Given the description of an element on the screen output the (x, y) to click on. 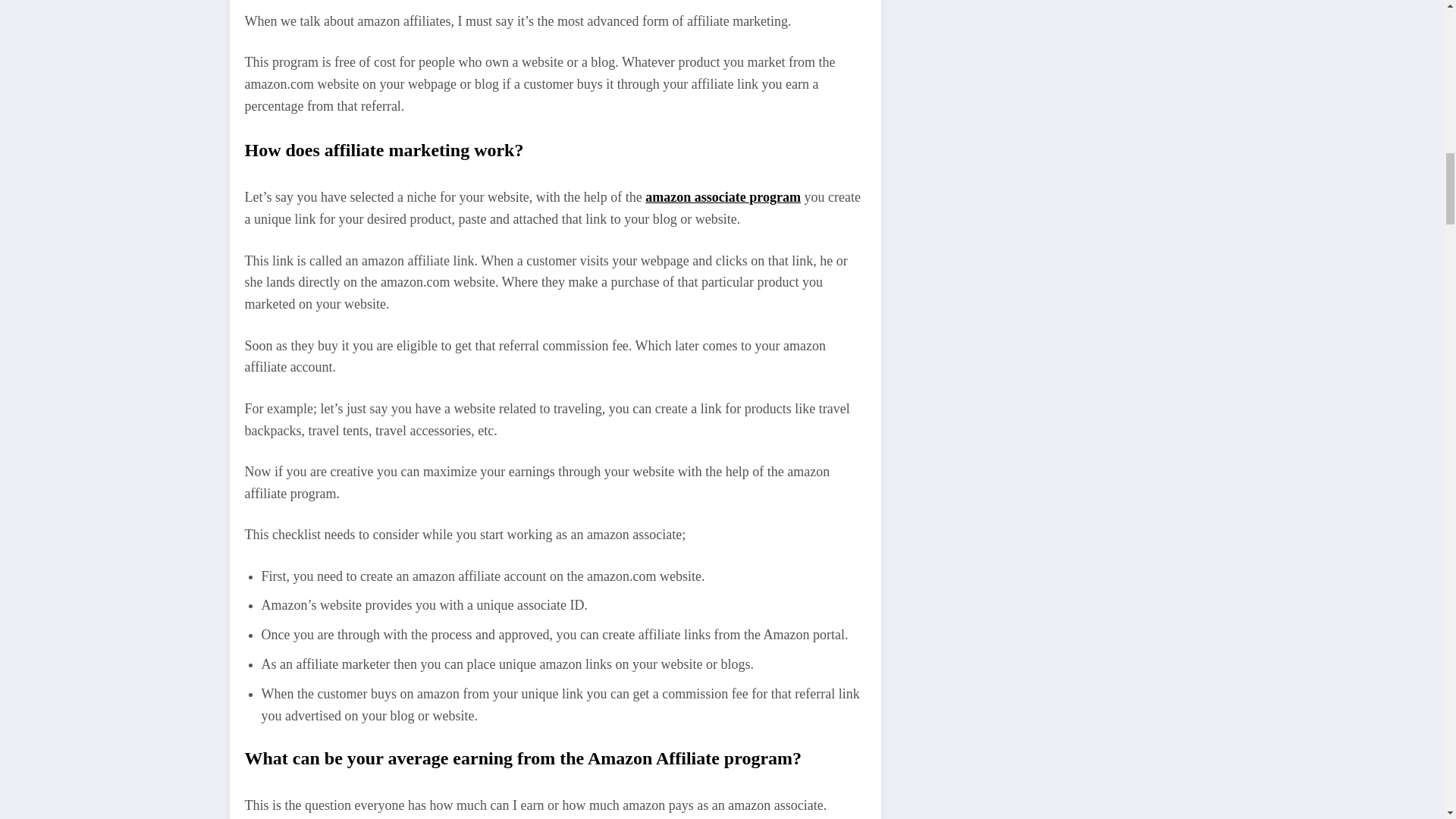
amazon associate program (722, 196)
